Given the description of an element on the screen output the (x, y) to click on. 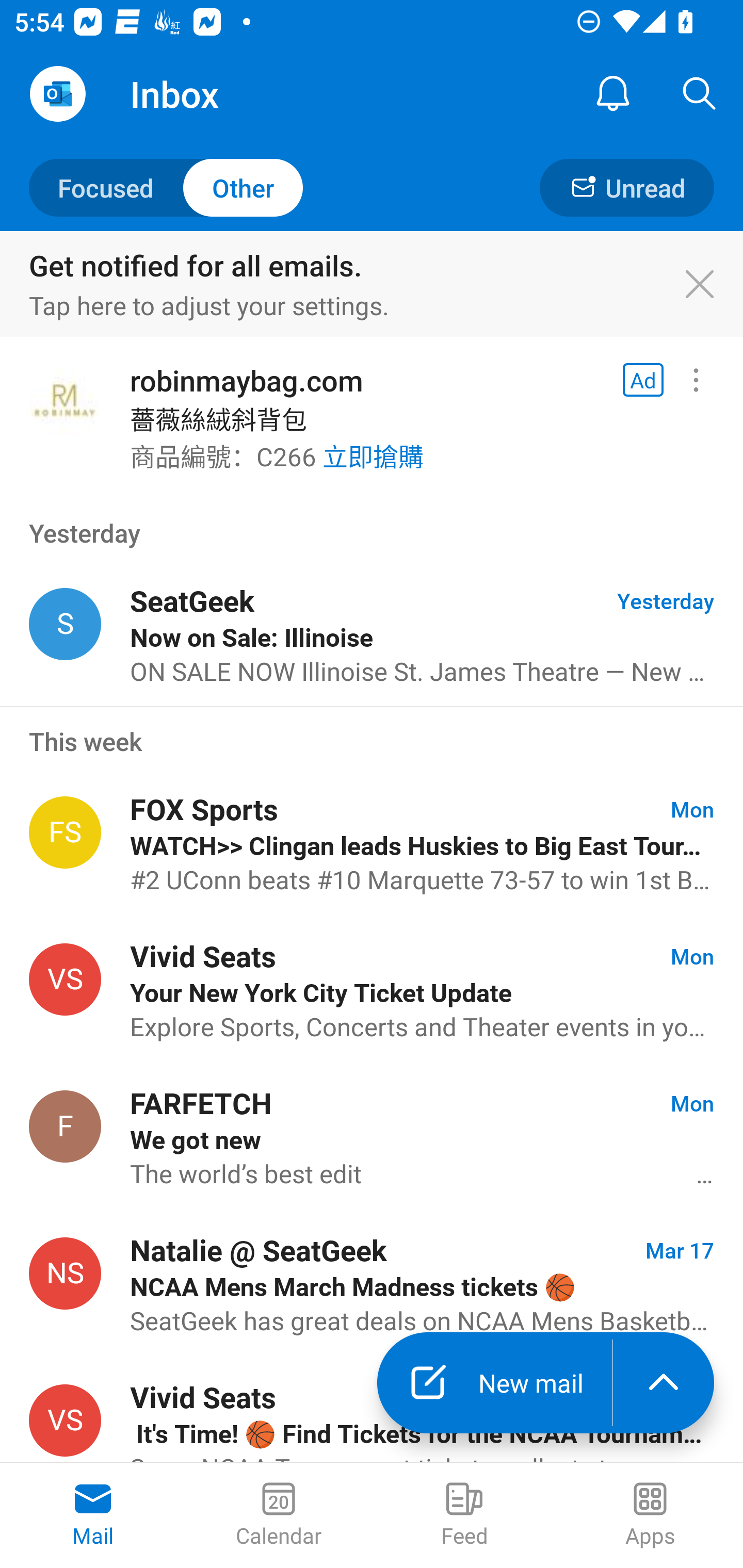
Notification Center (612, 93)
Search, ,  (699, 93)
Open Navigation Drawer (57, 94)
Toggle to Focused Inbox (165, 187)
Close Notification (710, 284)
Ad options menu button (695, 380)
Ad (642, 379)
SeatGeek, events@seatgeek.com (64, 624)
FOX Sports, email@inbox.foxsports.com (64, 832)
Vivid Seats, tickets@live.vividseats.com (64, 979)
FARFETCH, farfetch@email.farfetch.com (64, 1125)
Natalie @ SeatGeek, events@seatgeek.com (64, 1273)
New mail (494, 1382)
launch the extended action menu (663, 1382)
Vivid Seats, tickets@live.vividseats.com (64, 1420)
Calendar (278, 1515)
Feed (464, 1515)
Apps (650, 1515)
